Given the description of an element on the screen output the (x, y) to click on. 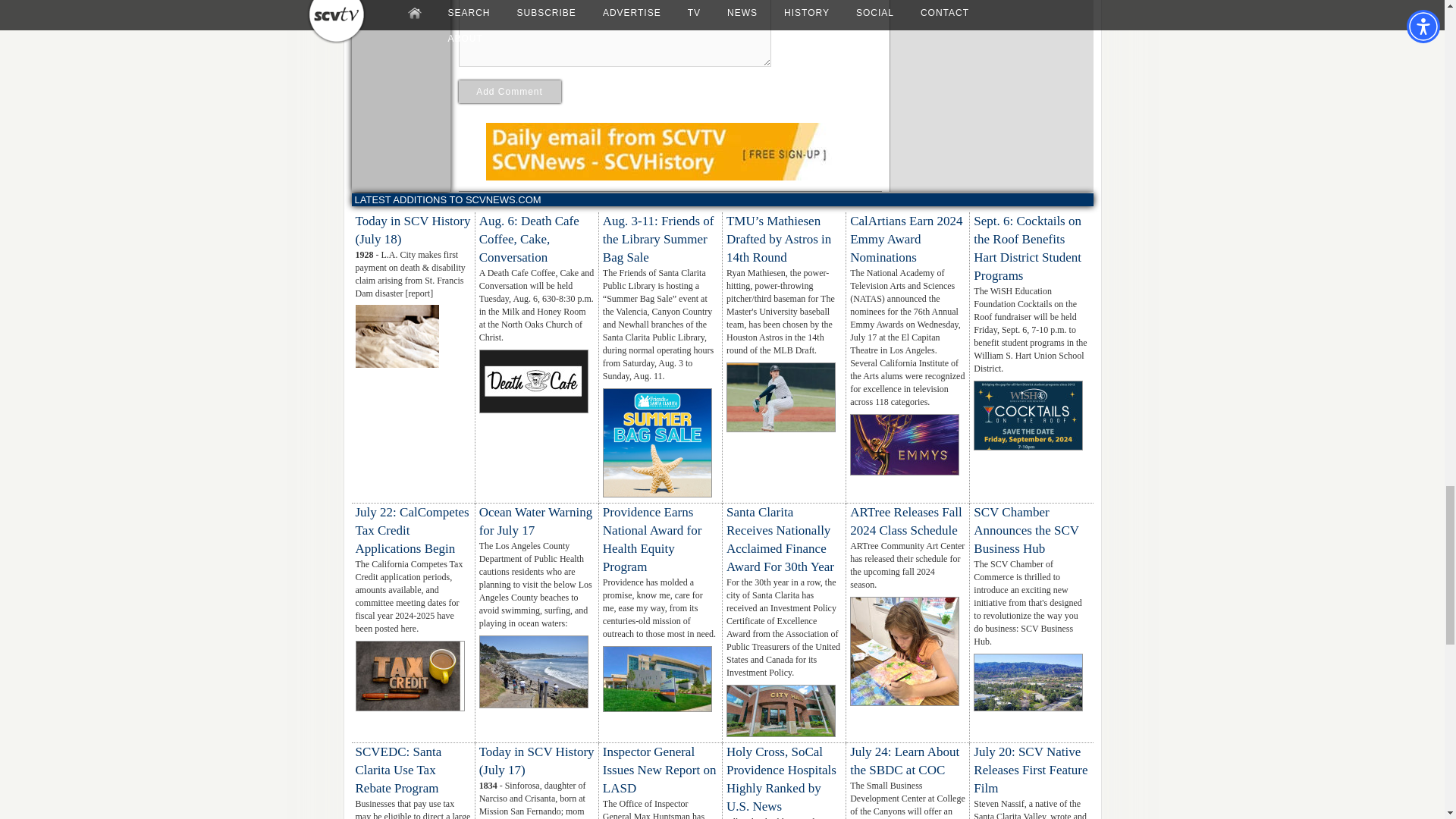
Add Comment (509, 91)
